Given the description of an element on the screen output the (x, y) to click on. 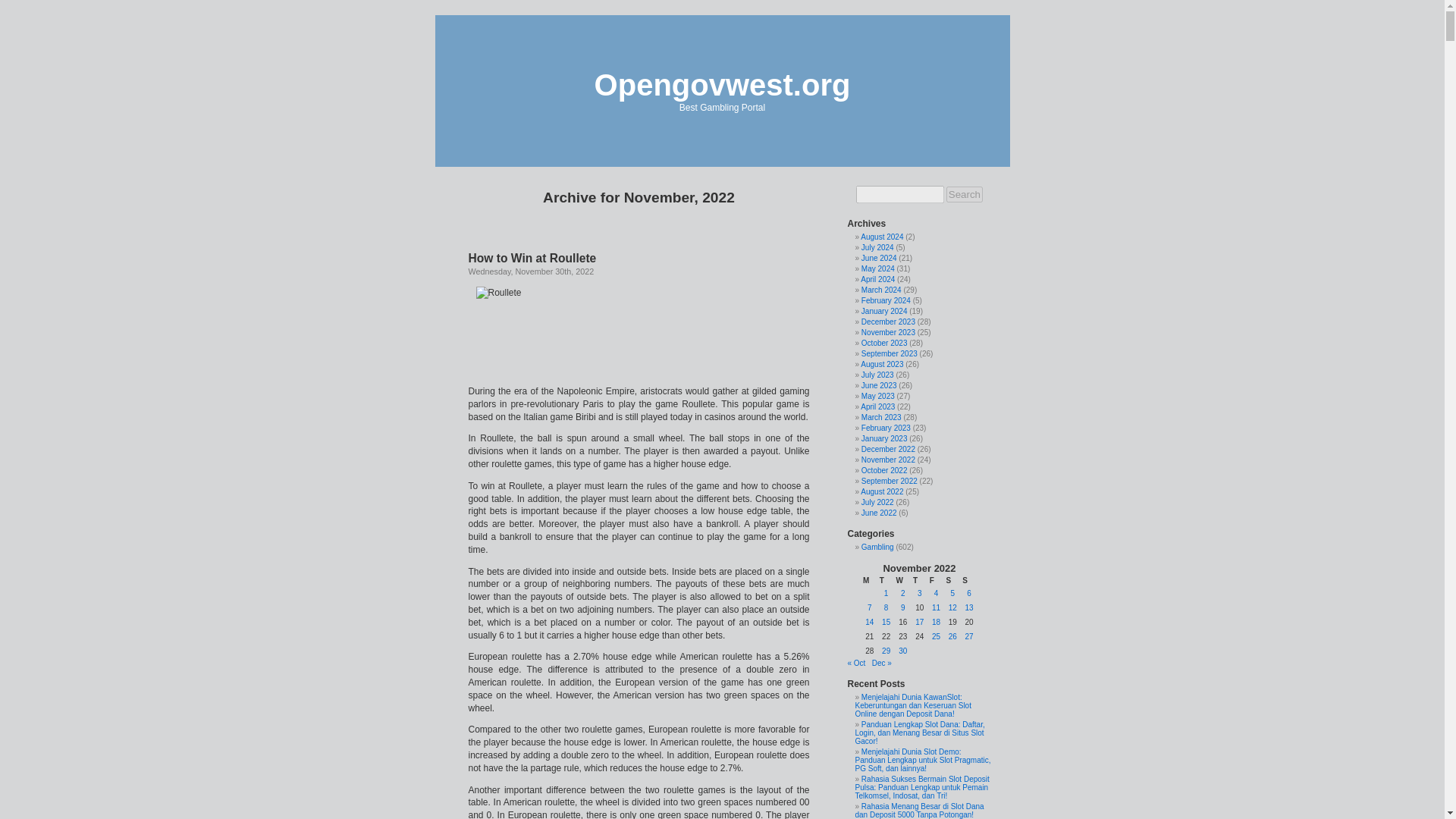
Permanent Link to How to Win at Roullete (532, 257)
How to Win at Roullete (532, 257)
Opengovwest.org (722, 84)
Search (964, 194)
